Given the description of an element on the screen output the (x, y) to click on. 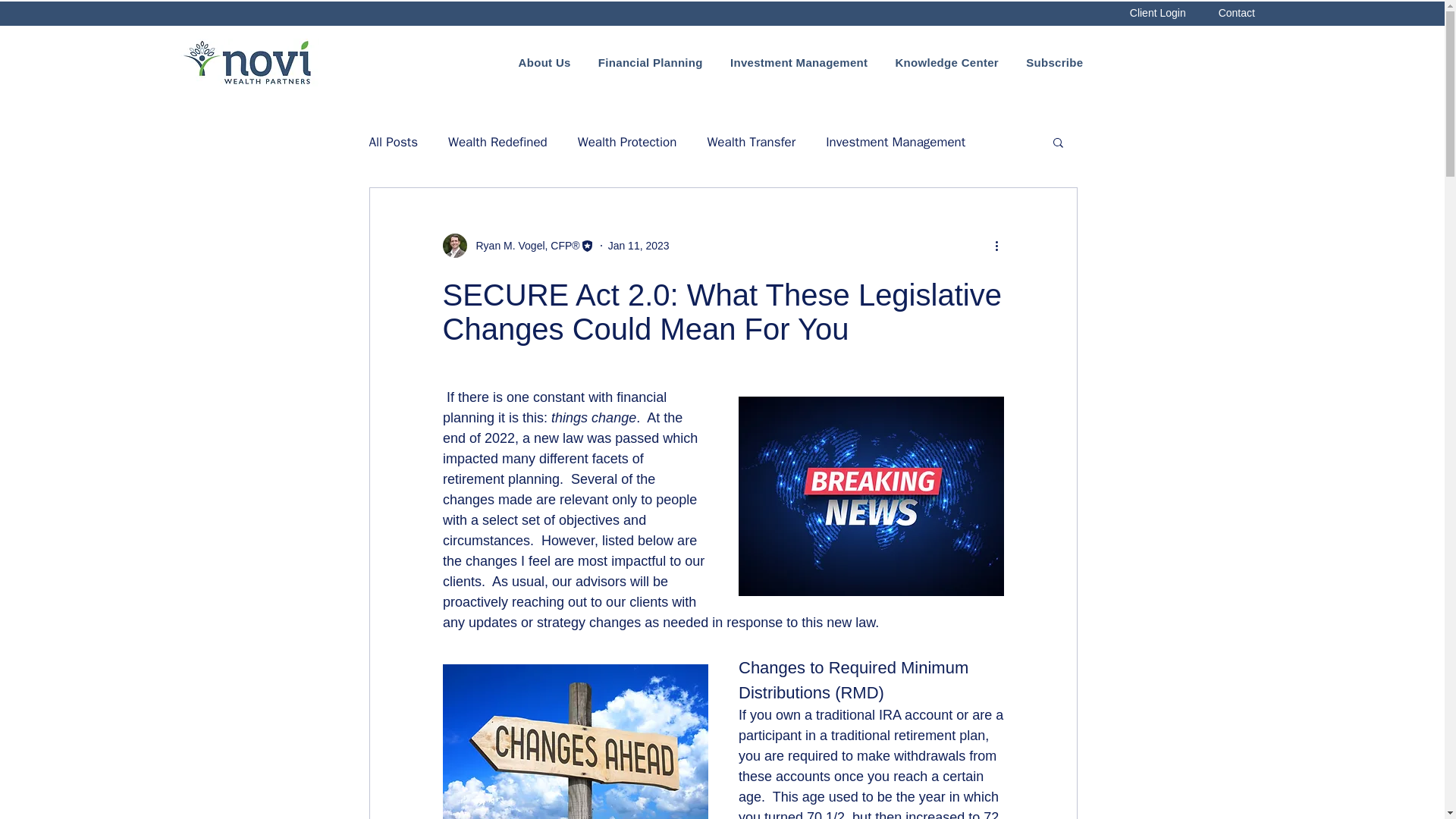
Subscribe (1053, 62)
Client Login (1157, 13)
Investment Management (895, 141)
Jan 11, 2023 (638, 245)
All Posts (392, 141)
Wealth Redefined (497, 141)
Wealth Transfer (750, 141)
Wealth Protection (627, 141)
Contact (1236, 13)
